Given the description of an element on the screen output the (x, y) to click on. 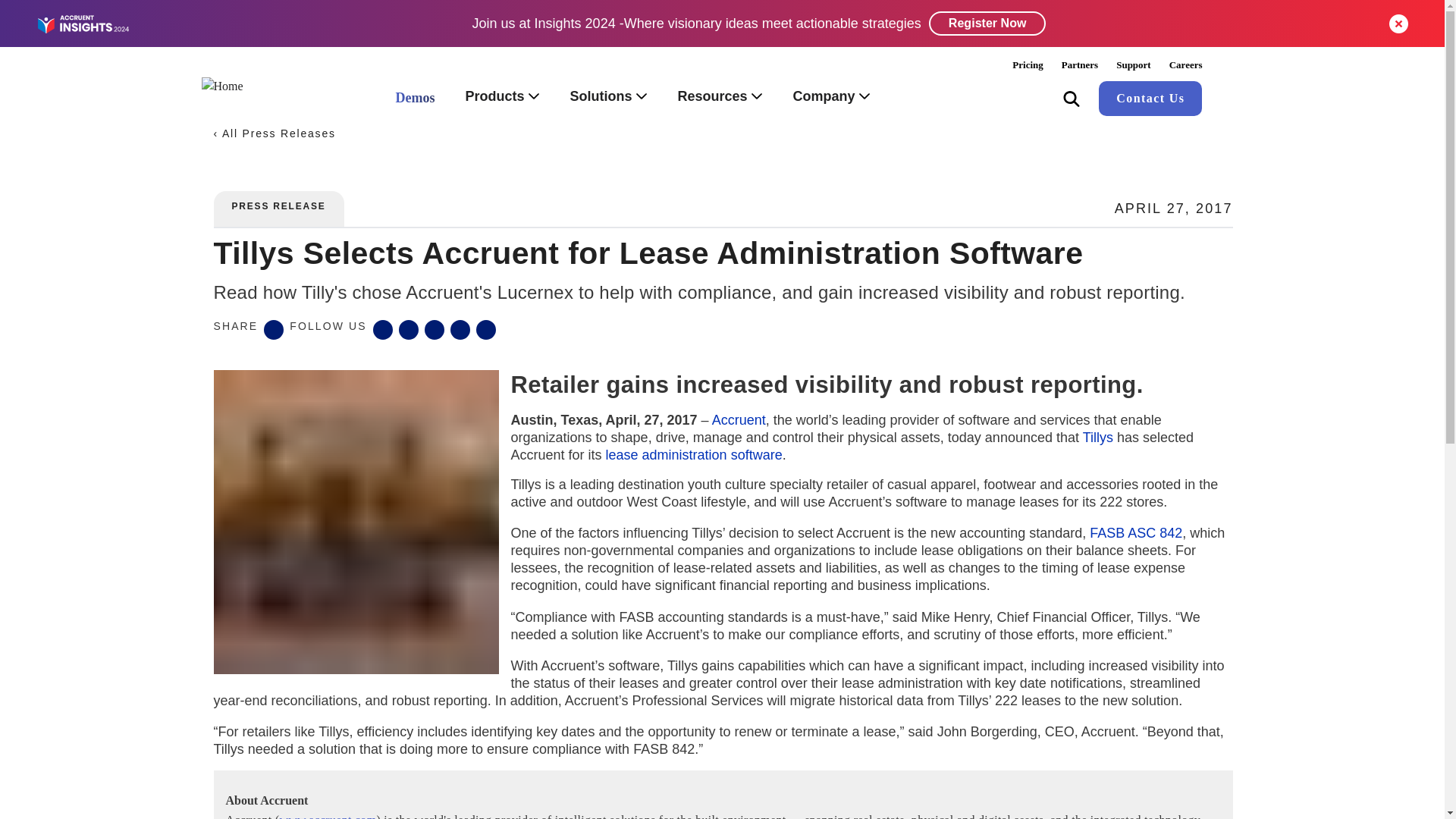
Pricing (1027, 64)
Partners (1079, 64)
Register Now (987, 23)
Support (1133, 64)
Products (501, 98)
Demos (414, 97)
Careers (1185, 64)
Solutions (608, 98)
